Given the description of an element on the screen output the (x, y) to click on. 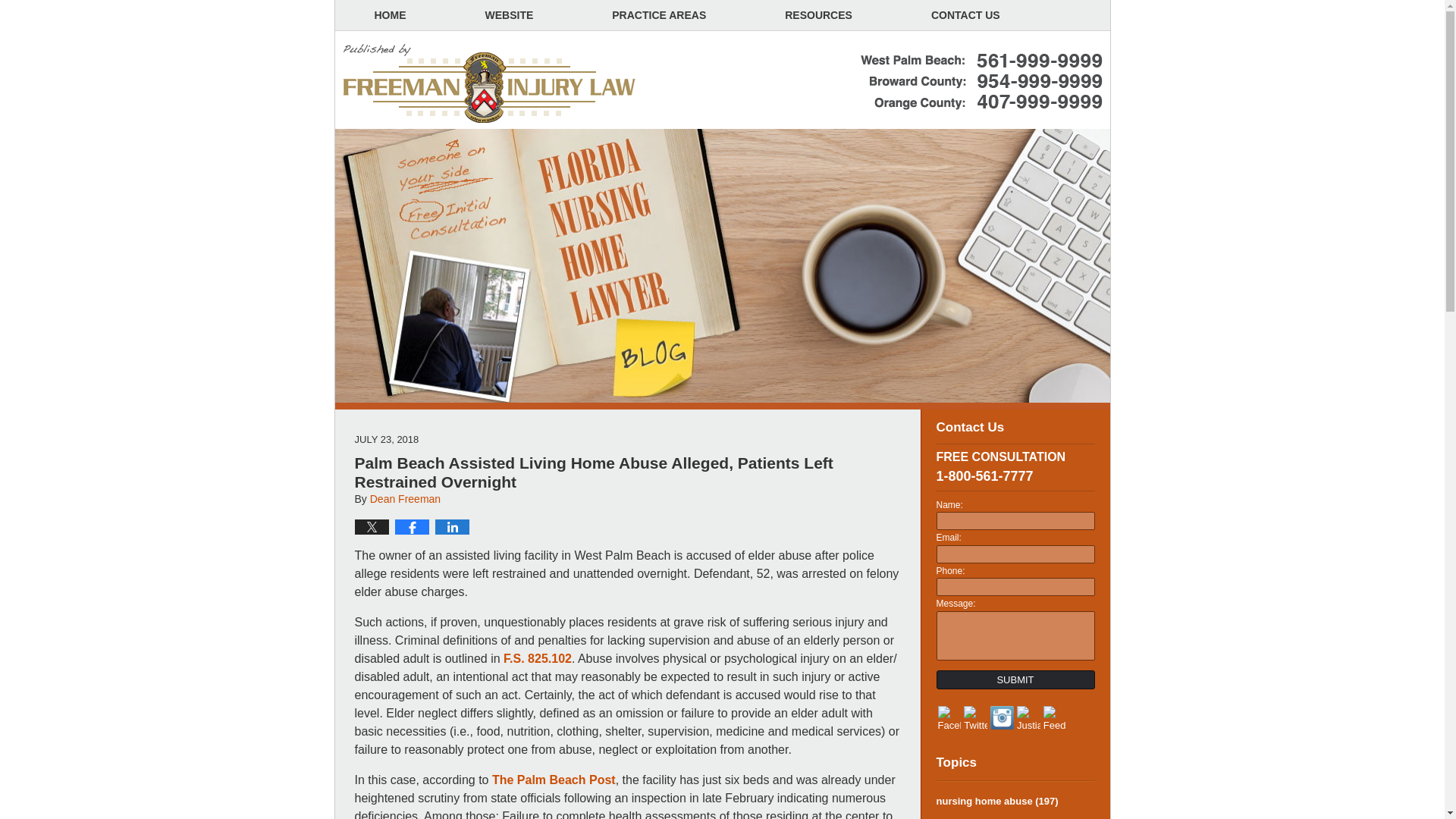
Instagram (1001, 717)
WEBSITE (509, 15)
Twitter (975, 719)
PRACTICE AREAS (658, 15)
Dean Freeman (405, 499)
Instagram (1001, 717)
Please enter a valid phone number. (1015, 587)
F.S. 825.102 (537, 658)
HOME (389, 15)
Florida Nursing Home Lawyer Blog (489, 84)
